Given the description of an element on the screen output the (x, y) to click on. 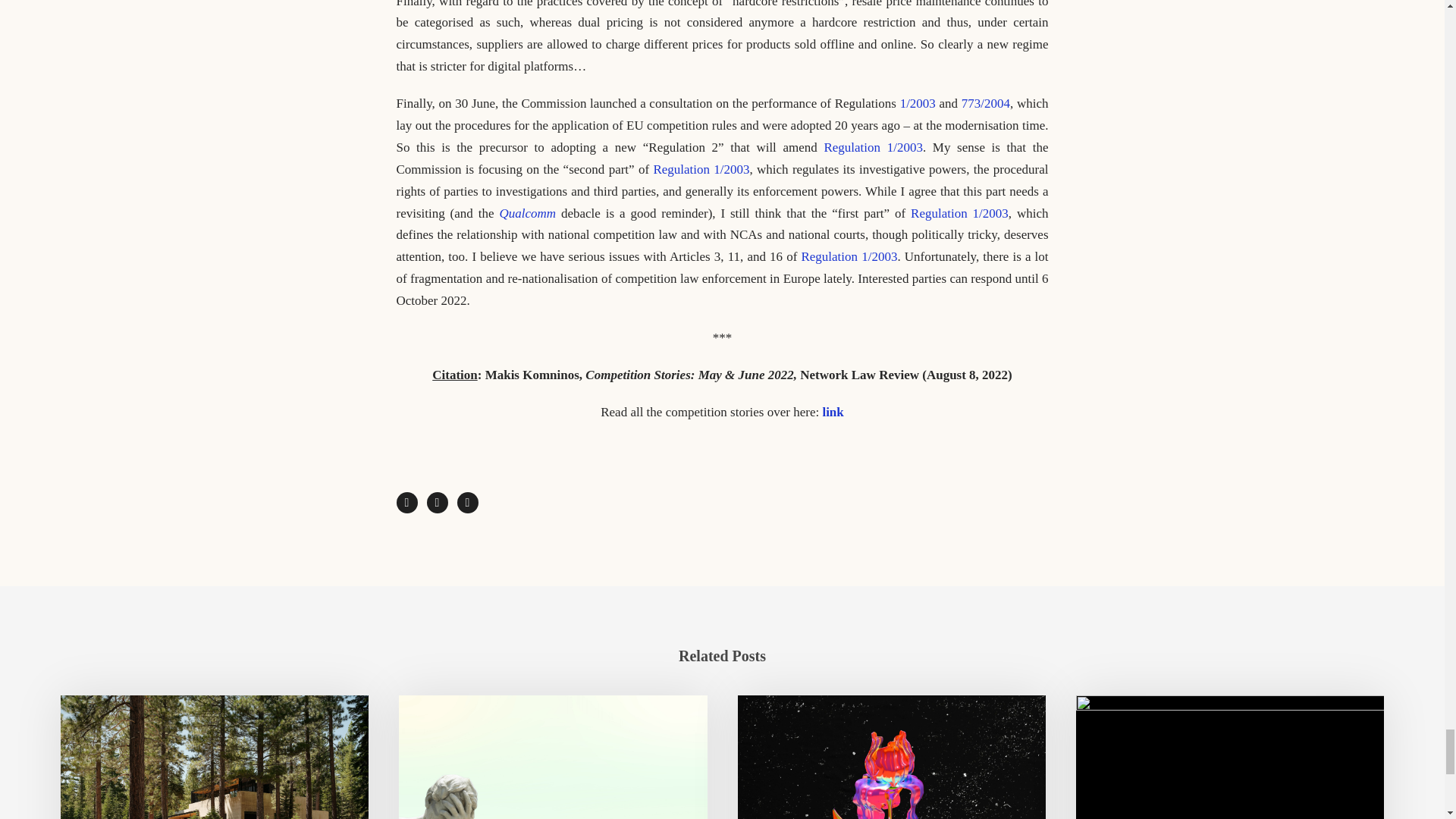
NLR (552, 757)
NLR (214, 757)
NLR (1229, 757)
